Given the description of an element on the screen output the (x, y) to click on. 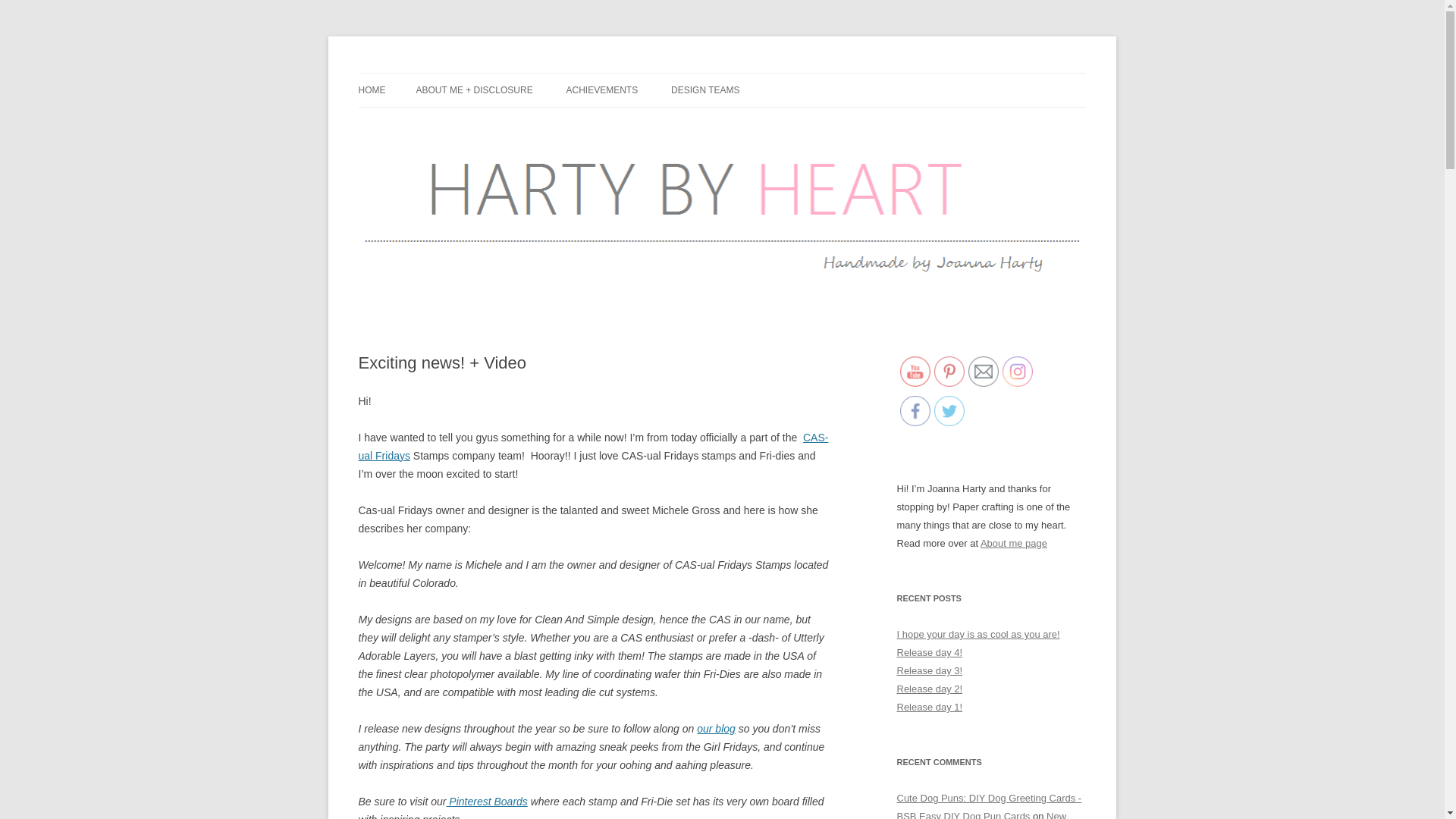
Follow by Email (982, 371)
our blog (716, 728)
Harty By Heart (426, 72)
Twitter (948, 410)
YouTube (914, 371)
CAS-ual Fridays (593, 446)
Skip to content (757, 77)
DESIGN TEAMS (705, 90)
ACHIEVEMENTS (602, 90)
Pinterest Boards (486, 801)
